Given the description of an element on the screen output the (x, y) to click on. 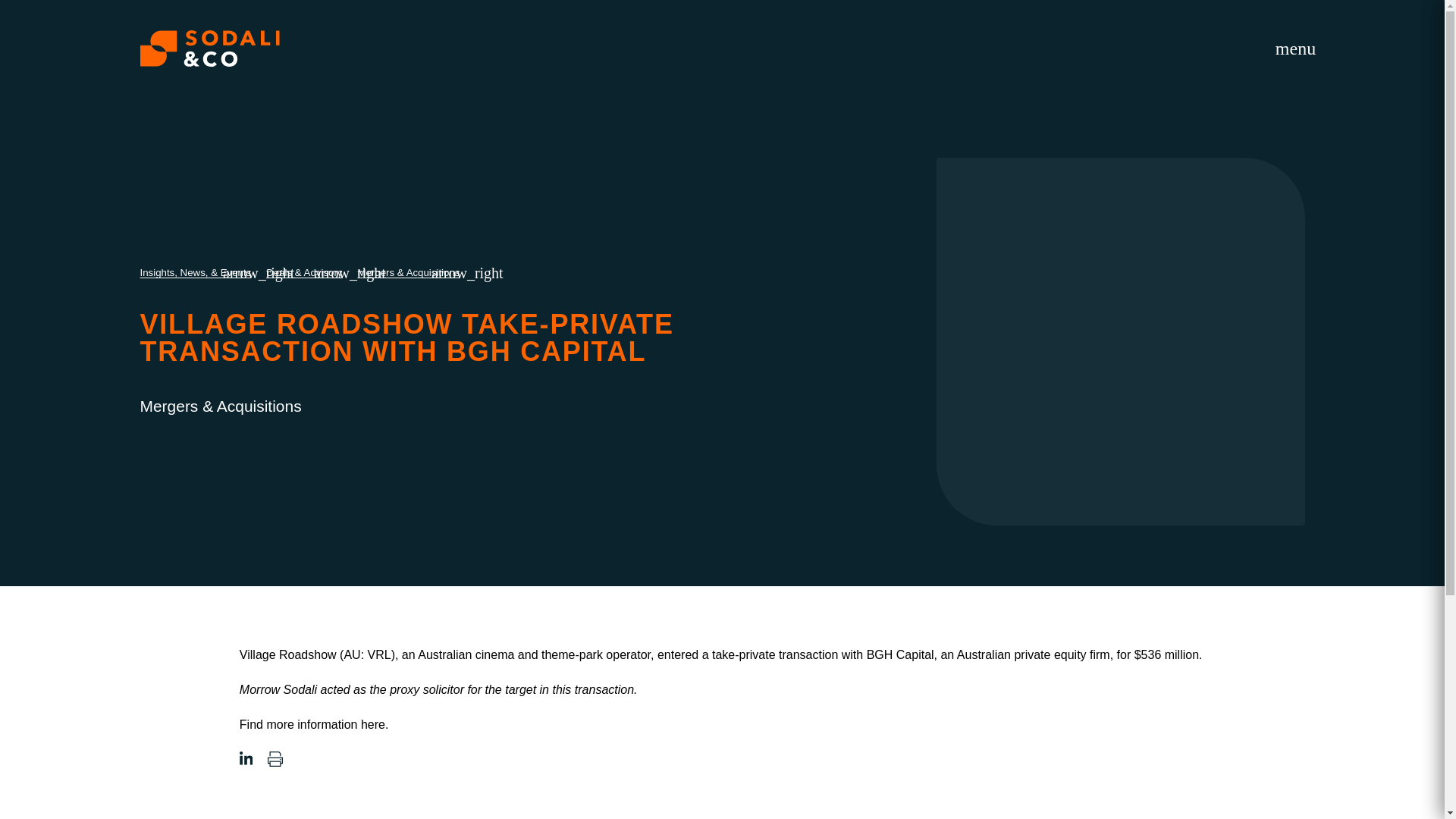
BGH Capital (900, 654)
Village Roadshow (288, 654)
here (373, 724)
